Given the description of an element on the screen output the (x, y) to click on. 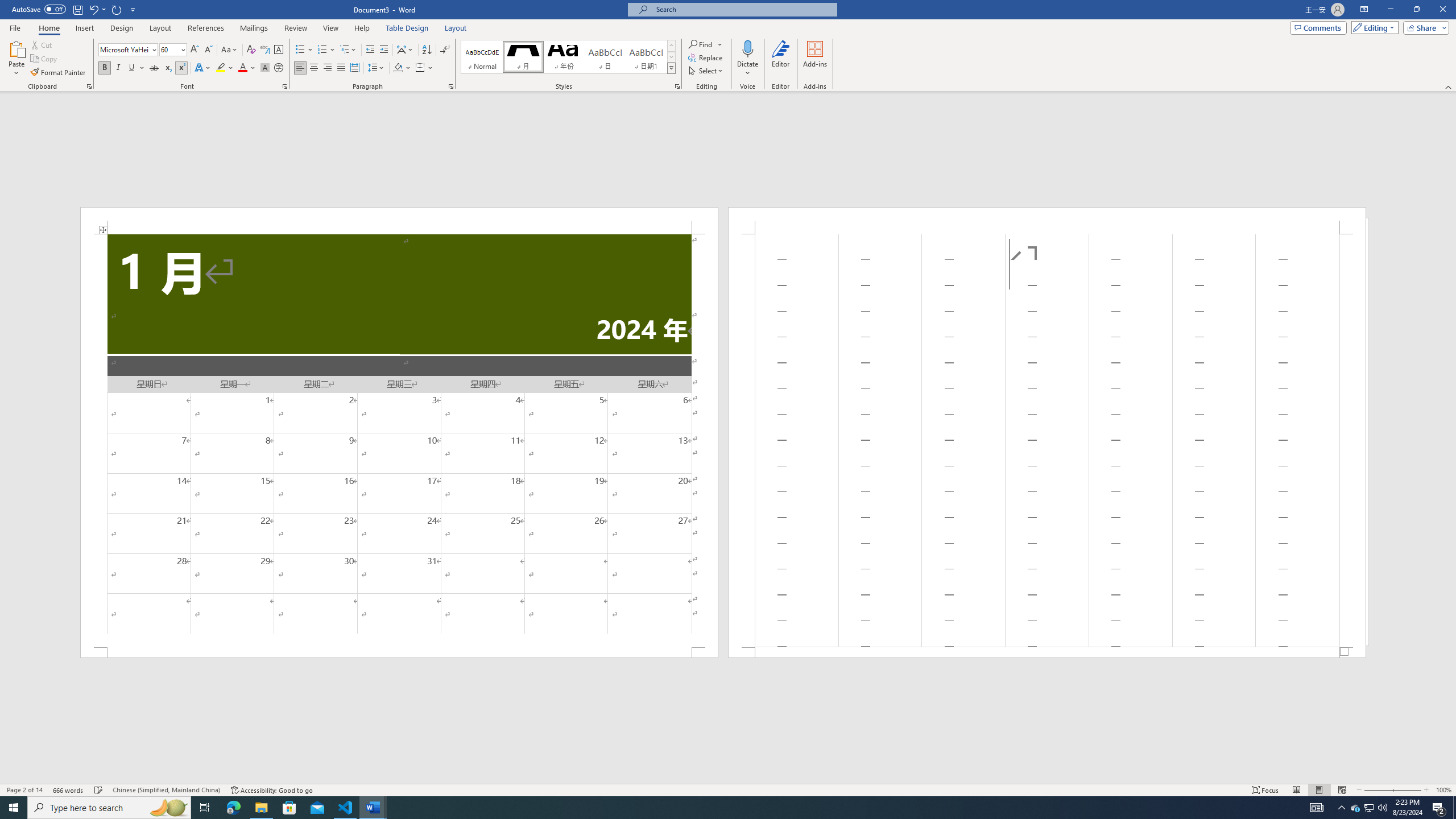
Print Layout (1318, 790)
Row up (670, 45)
Repeat Superscript (117, 9)
Dictate (747, 58)
Numbering (326, 49)
Underline (131, 67)
Review (295, 28)
Find (705, 44)
Mode (1372, 27)
Layout (455, 28)
Replace... (705, 56)
Align Right (327, 67)
Undo Superscript (92, 9)
Share (1423, 27)
Zoom Out (1377, 790)
